Given the description of an element on the screen output the (x, y) to click on. 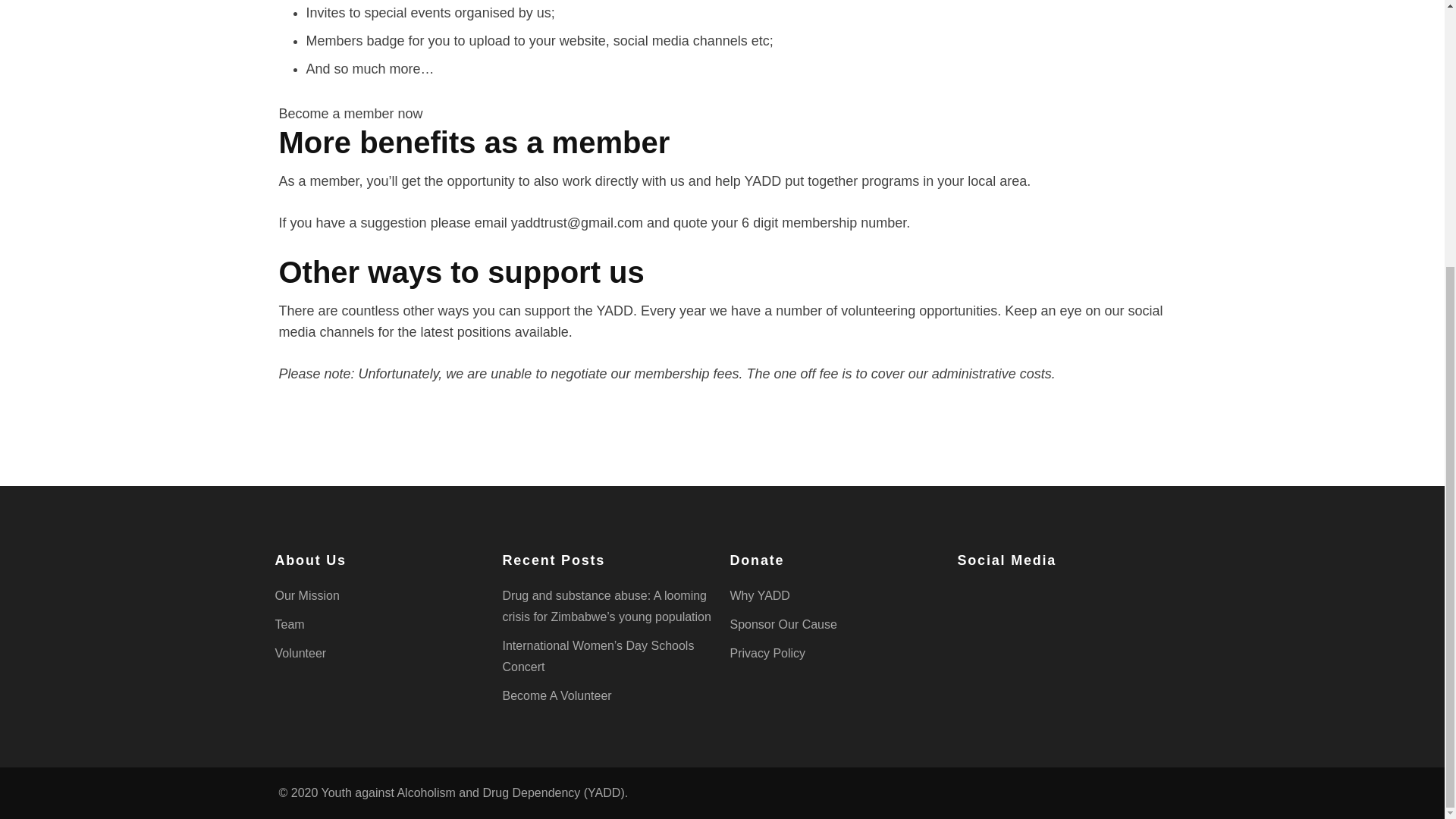
Privacy Policy (767, 653)
Become A Volunteer (556, 695)
Sponsor Our Cause (782, 624)
Why YADD (759, 594)
Team (289, 624)
Our Mission (307, 594)
Volunteer (300, 653)
